Given the description of an element on the screen output the (x, y) to click on. 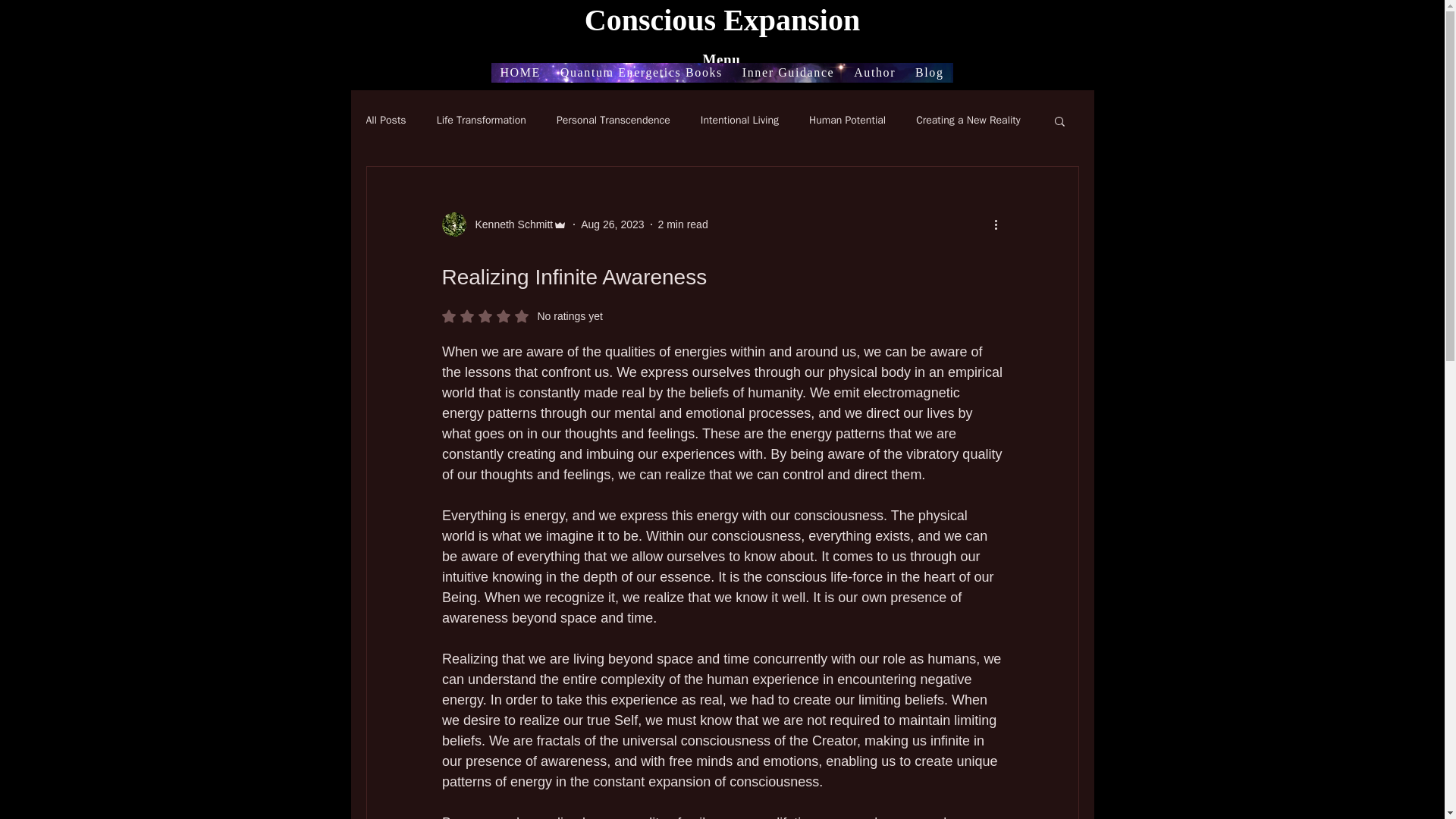
Aug 26, 2023 (611, 224)
Human Potential (847, 120)
HOME (521, 72)
Life Transformation (480, 120)
Quantum Energetics Books (641, 72)
Author (521, 315)
Kenneth Schmitt (874, 72)
2 min read (509, 224)
Blog (682, 224)
All Posts (928, 72)
Kenneth Schmitt (385, 120)
Inner Guidance (504, 224)
Intentional Living (788, 72)
Creating a New Reality (739, 120)
